Given the description of an element on the screen output the (x, y) to click on. 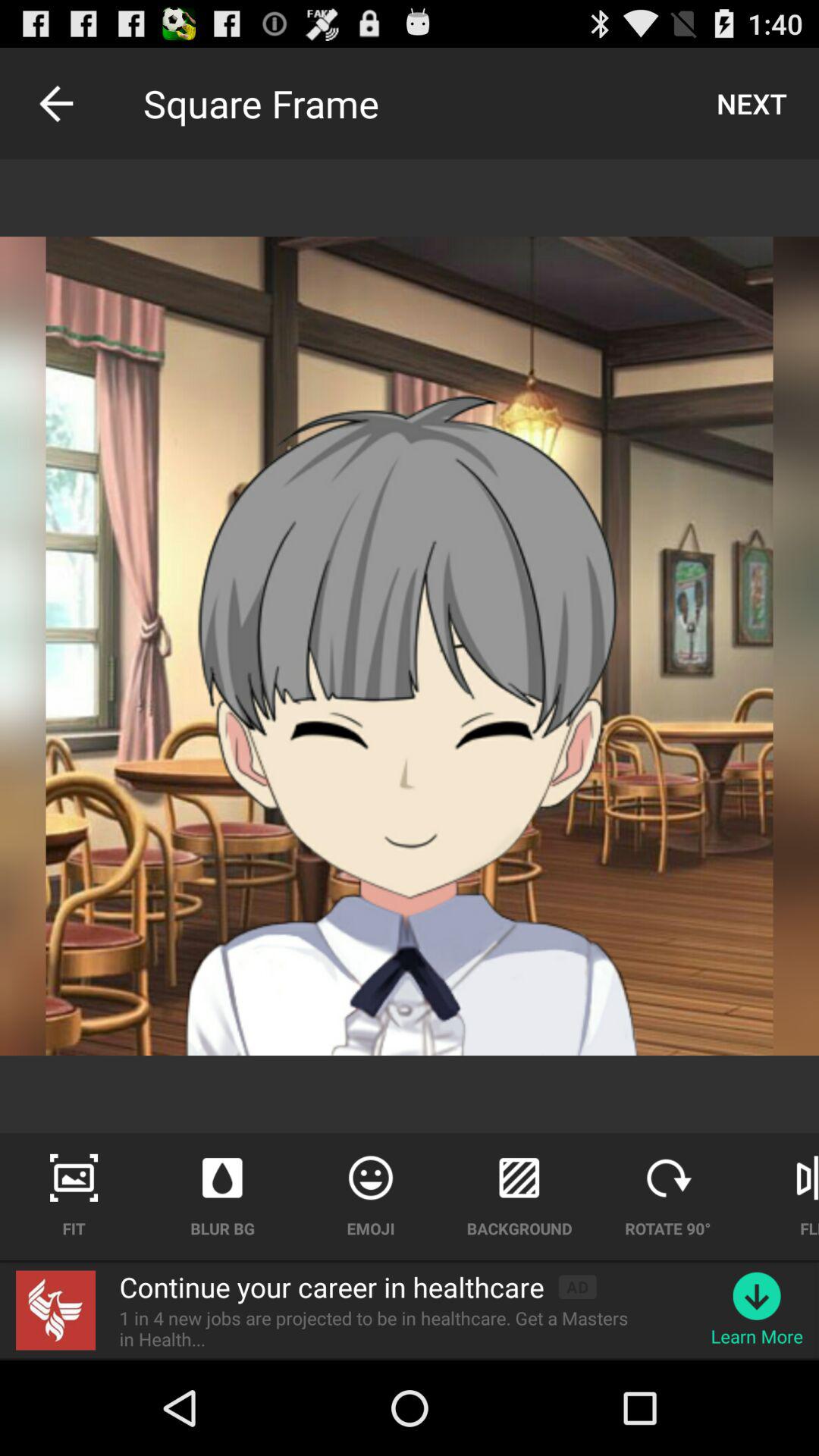
turn off the icon next to 1 in 4 item (756, 1296)
